Given the description of an element on the screen output the (x, y) to click on. 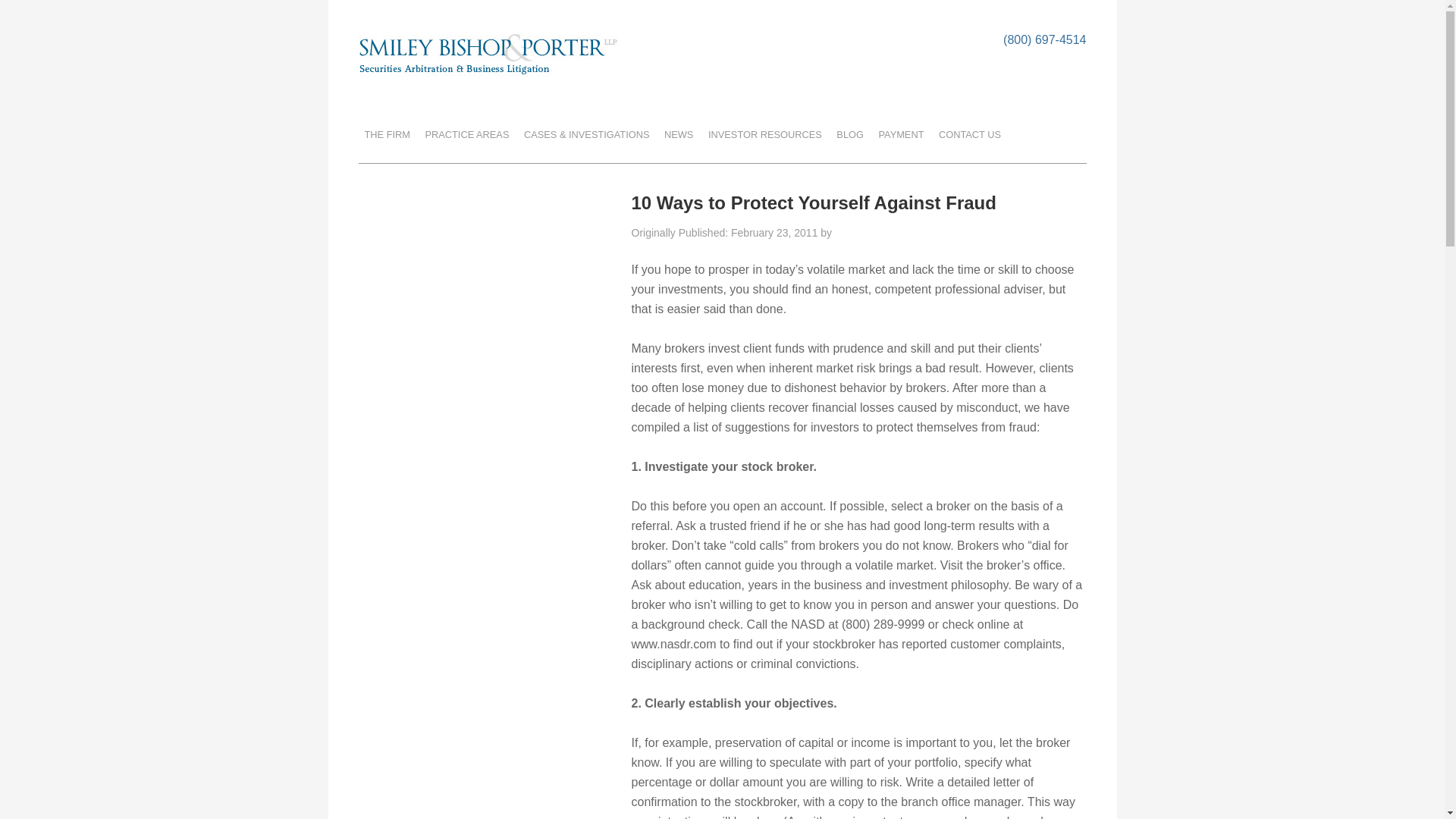
CONTACT US (970, 134)
INVESTOR RESOURCES (764, 134)
PRACTICE AREAS (467, 134)
THE FIRM (386, 134)
PAYMENT (901, 134)
